Given the description of an element on the screen output the (x, y) to click on. 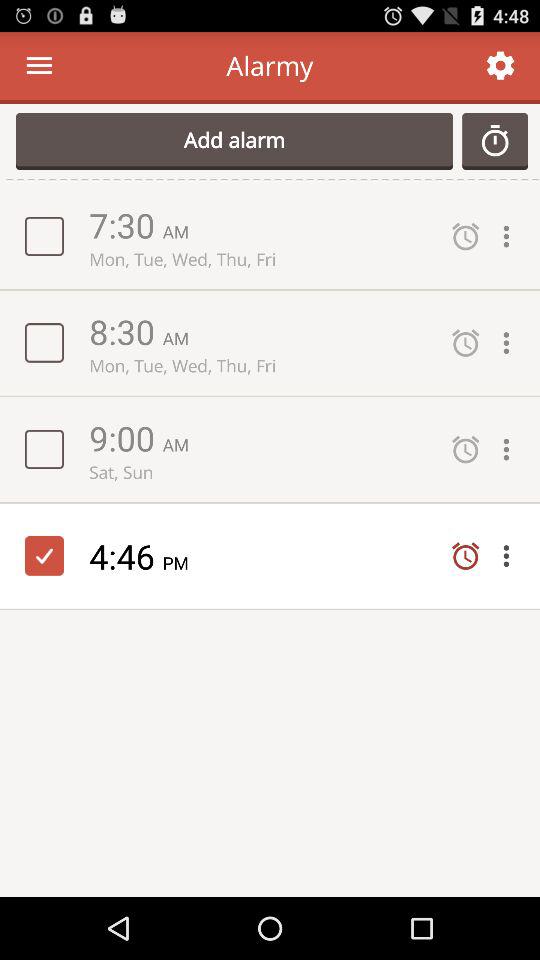
turn on item to the left of pm (125, 555)
